Given the description of an element on the screen output the (x, y) to click on. 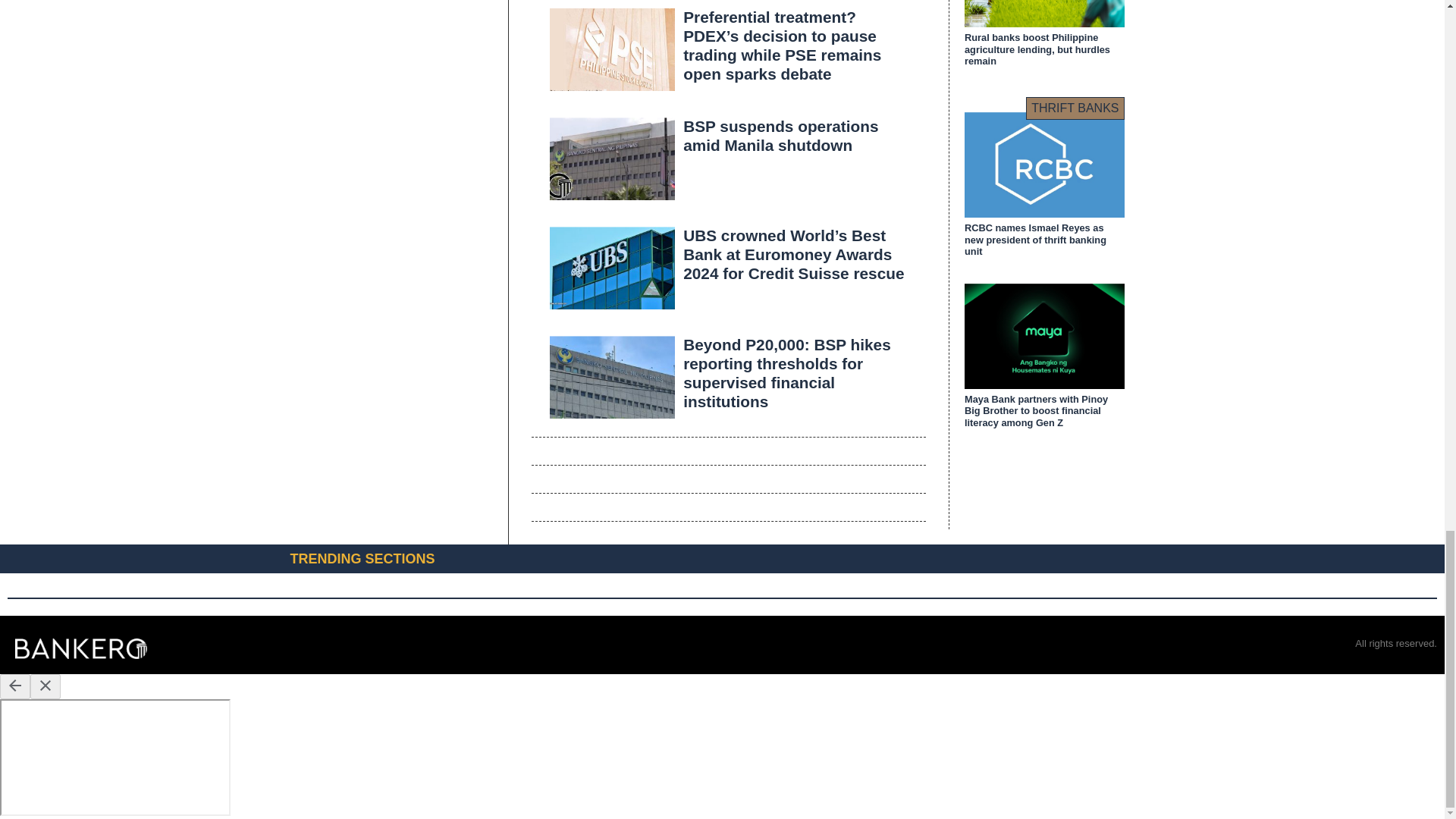
BSP suspends operations amid Manila shutdown (779, 135)
